Given the description of an element on the screen output the (x, y) to click on. 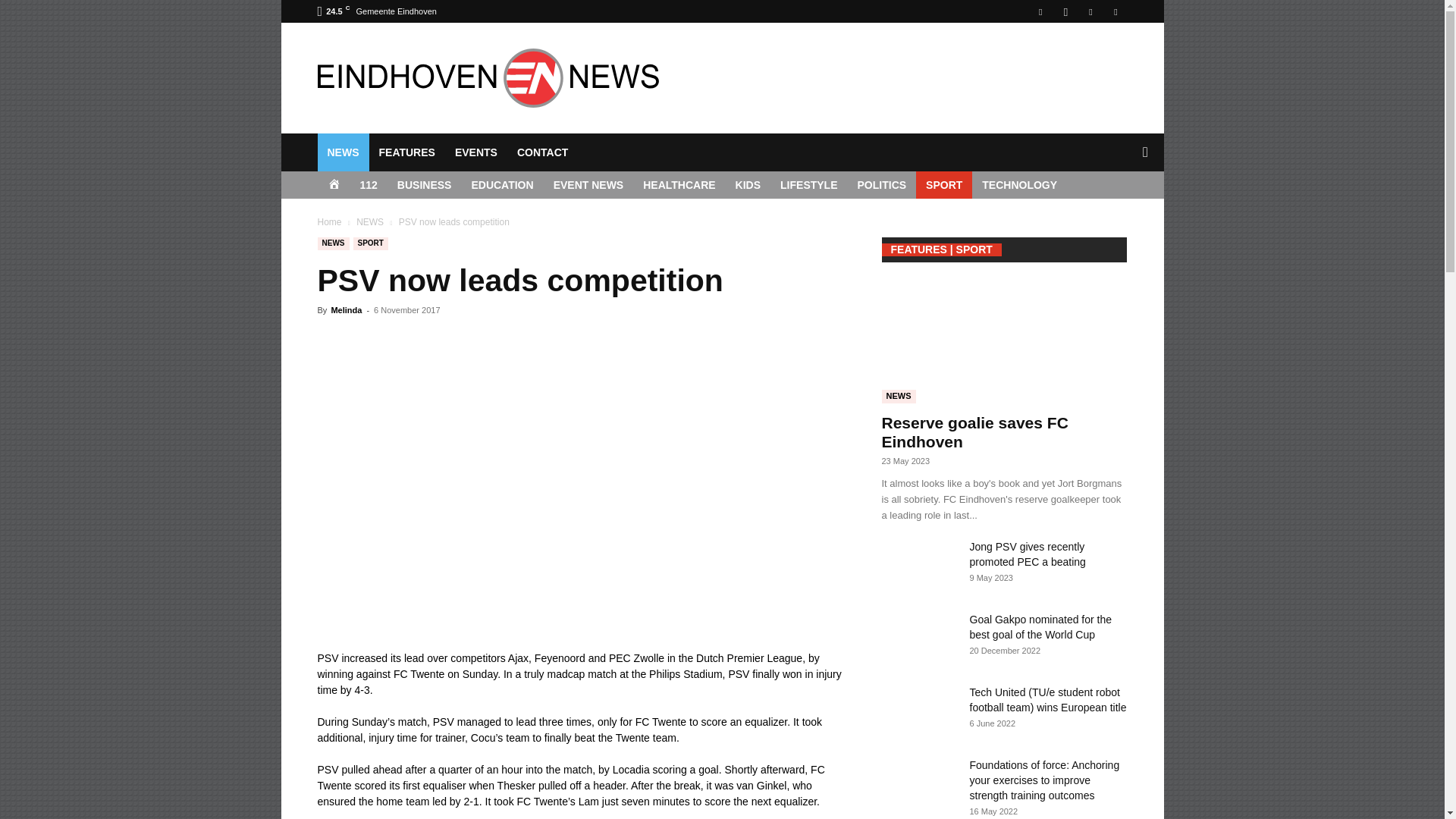
Linkedin (1090, 11)
POLITICS (882, 185)
Goal Gakpo nominated for the best goal of the World Cup (918, 638)
Jong PSV gives recently promoted PEC a beating (918, 565)
Reserve goalie saves FC Eindhoven (973, 432)
Home (328, 222)
112 (368, 185)
LIFESTYLE (808, 185)
Facebook (1040, 11)
CONTACT (542, 152)
Instagram (1065, 11)
Twitter (1114, 11)
Search (1121, 213)
Goal Gakpo nominated for the best goal of the World Cup (1040, 626)
